Given the description of an element on the screen output the (x, y) to click on. 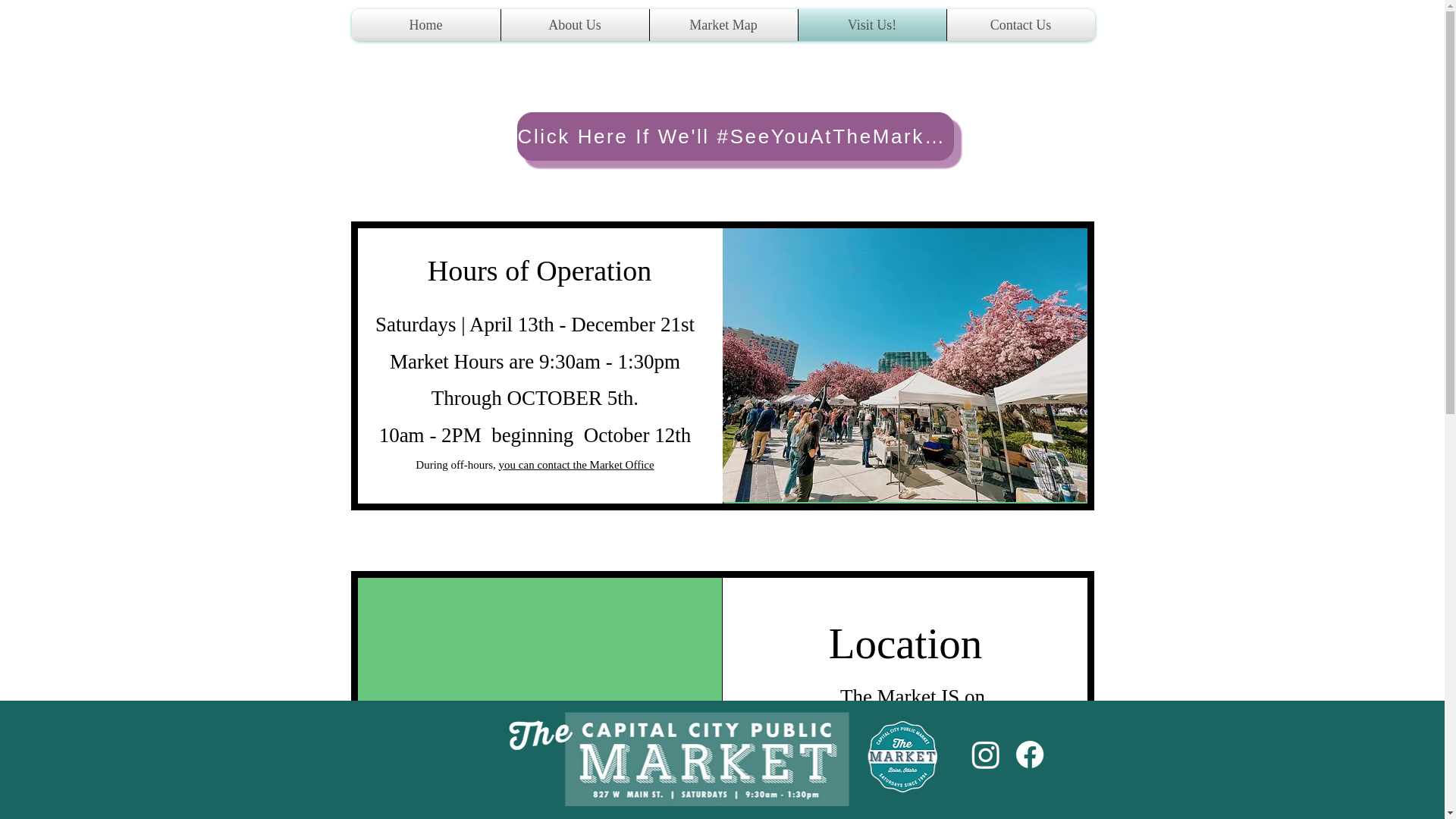
About Us (573, 24)
Market Map (722, 24)
Visit Us! (870, 24)
Contact Us (1020, 24)
Home (426, 24)
you can contact the Market Office (576, 464)
